Given the description of an element on the screen output the (x, y) to click on. 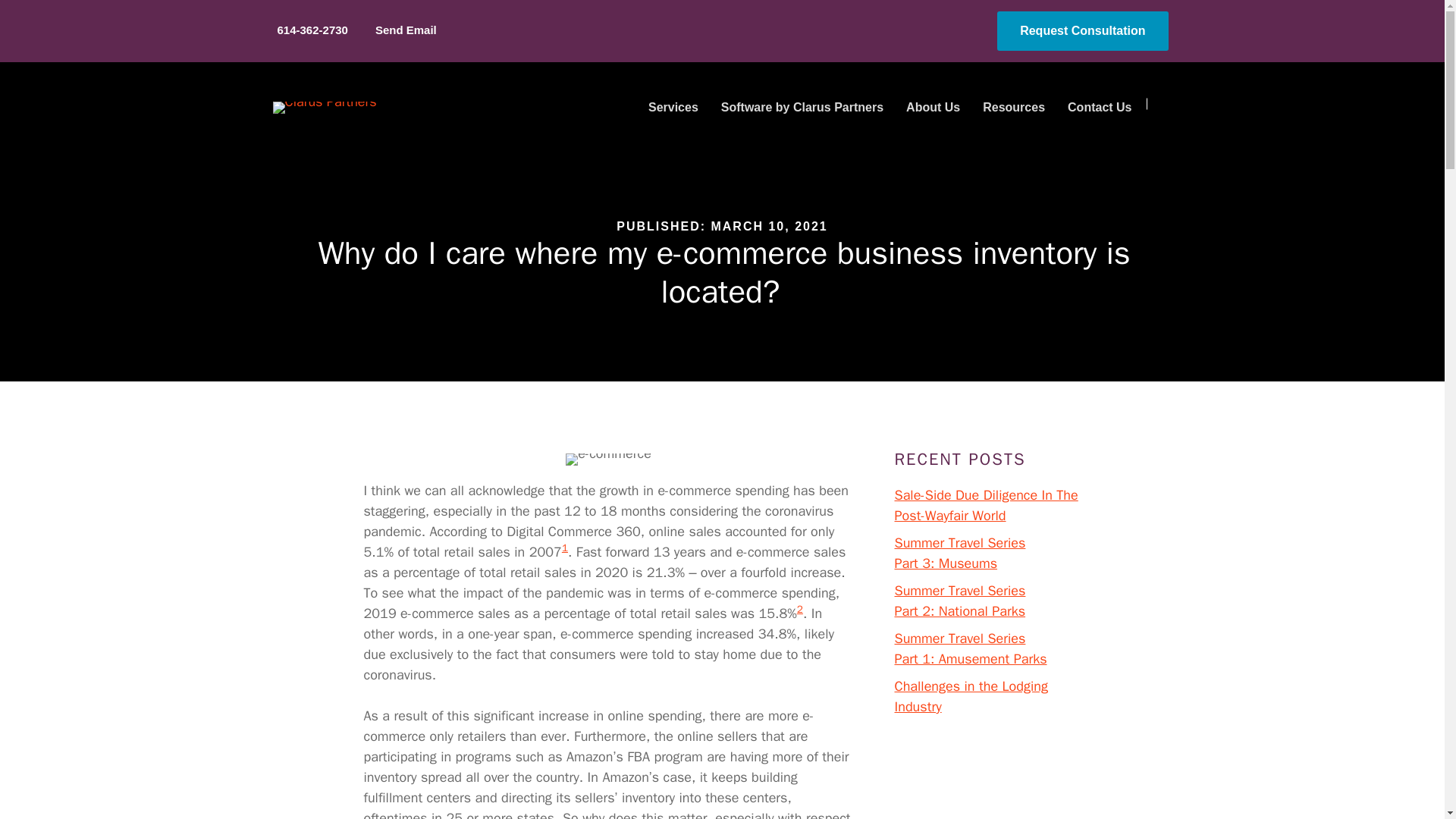
Software by Clarus Partners (802, 107)
logo (325, 107)
614-362-2730 (310, 29)
Request Consultation (1082, 30)
Resources (1014, 107)
Services (673, 107)
About Us (933, 107)
Warehouse-photo (608, 459)
Contact Us (1099, 107)
Send Email (403, 29)
